Given the description of an element on the screen output the (x, y) to click on. 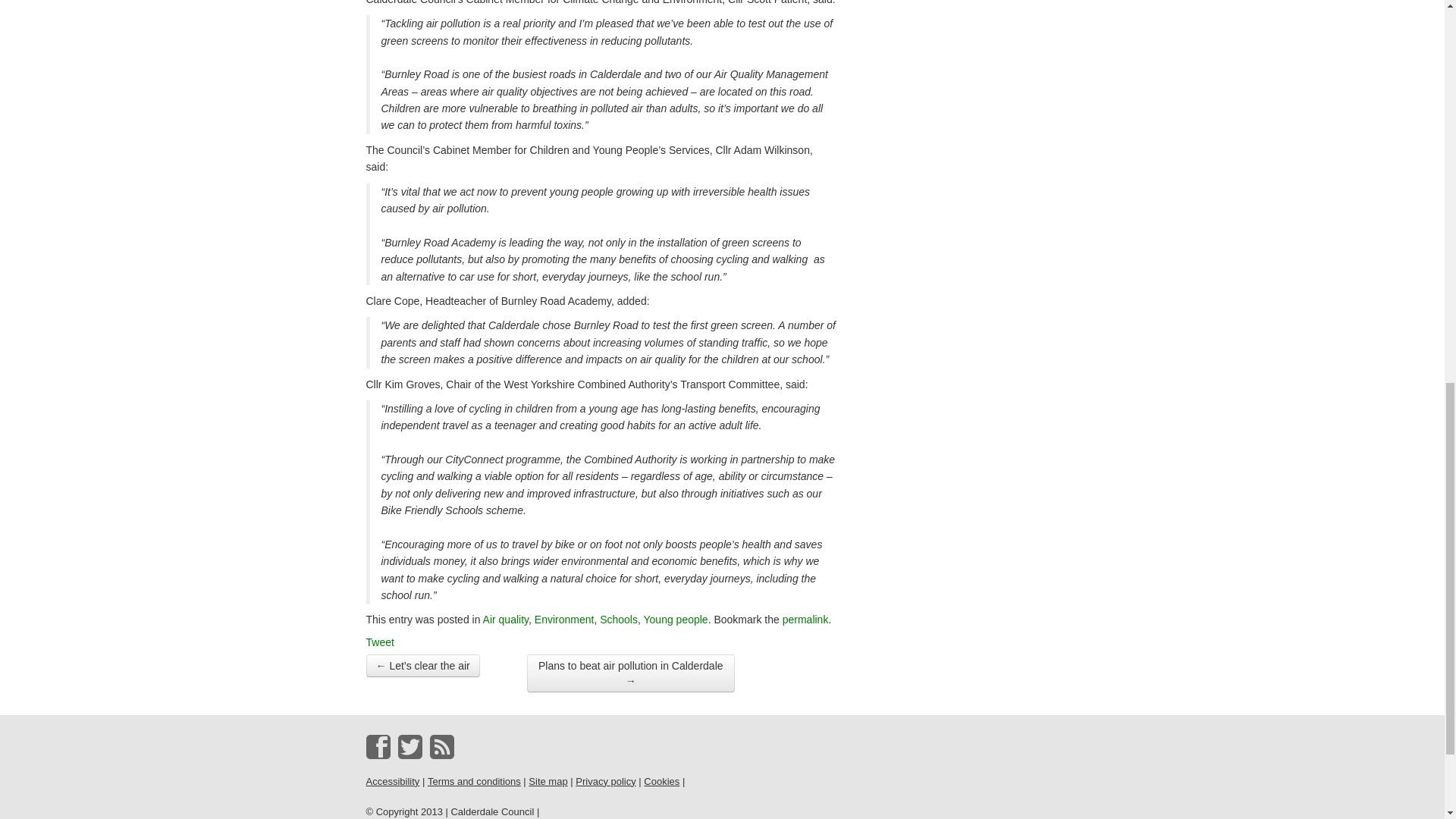
Young people (675, 619)
Tweet (379, 642)
permalink (805, 619)
Environment (564, 619)
Air quality (505, 619)
RSS (440, 746)
Facebook (377, 746)
Schools (618, 619)
Twitter (409, 746)
